Given the description of an element on the screen output the (x, y) to click on. 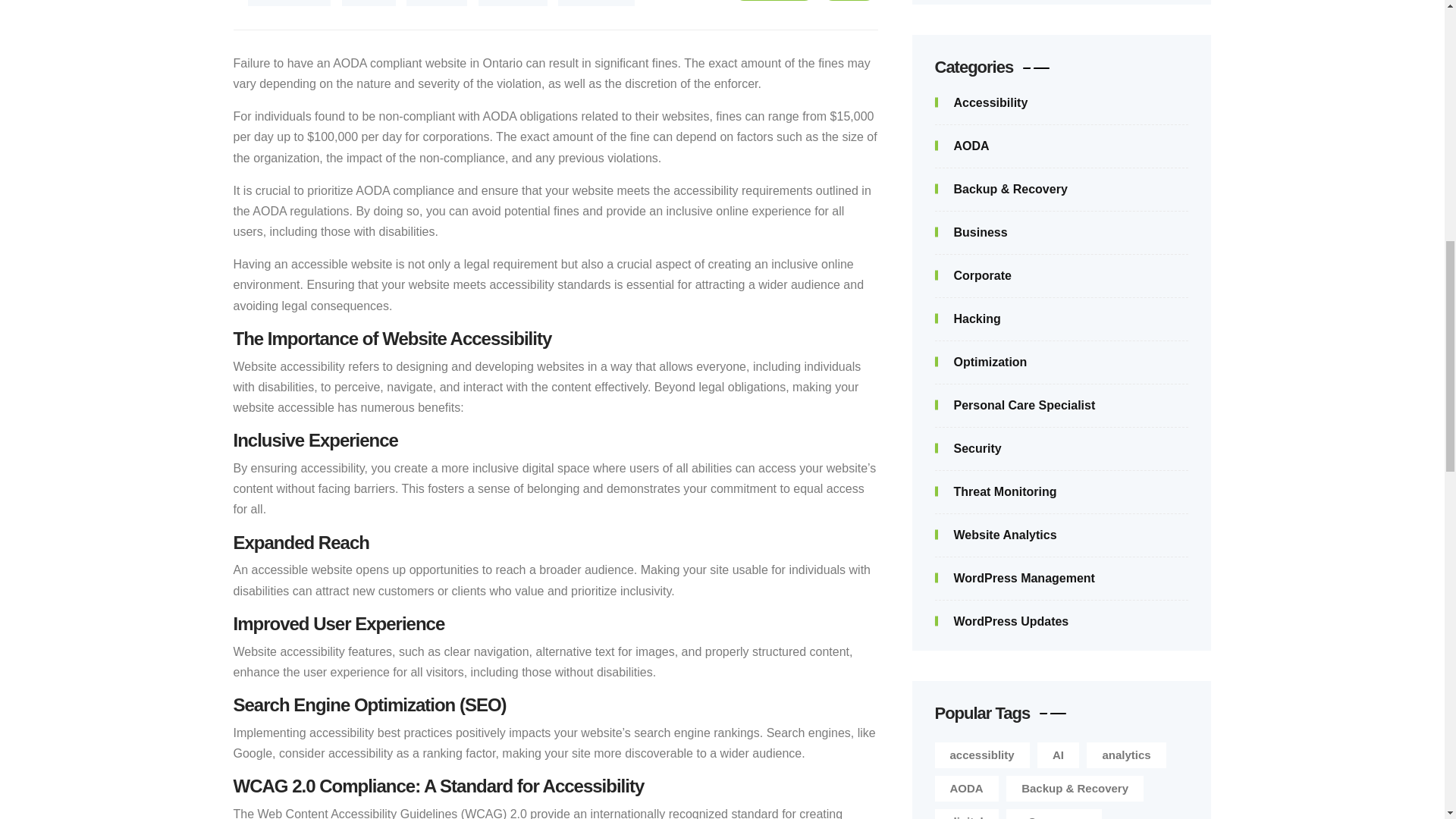
AODA (369, 2)
Websites (513, 2)
AODA (961, 145)
Ontario (436, 2)
Business (970, 232)
Optimization (980, 361)
AODA (849, 0)
accessiblity (288, 2)
wordpress (595, 2)
Hacking (967, 318)
Corporate (972, 275)
Accessibility (980, 102)
